Given the description of an element on the screen output the (x, y) to click on. 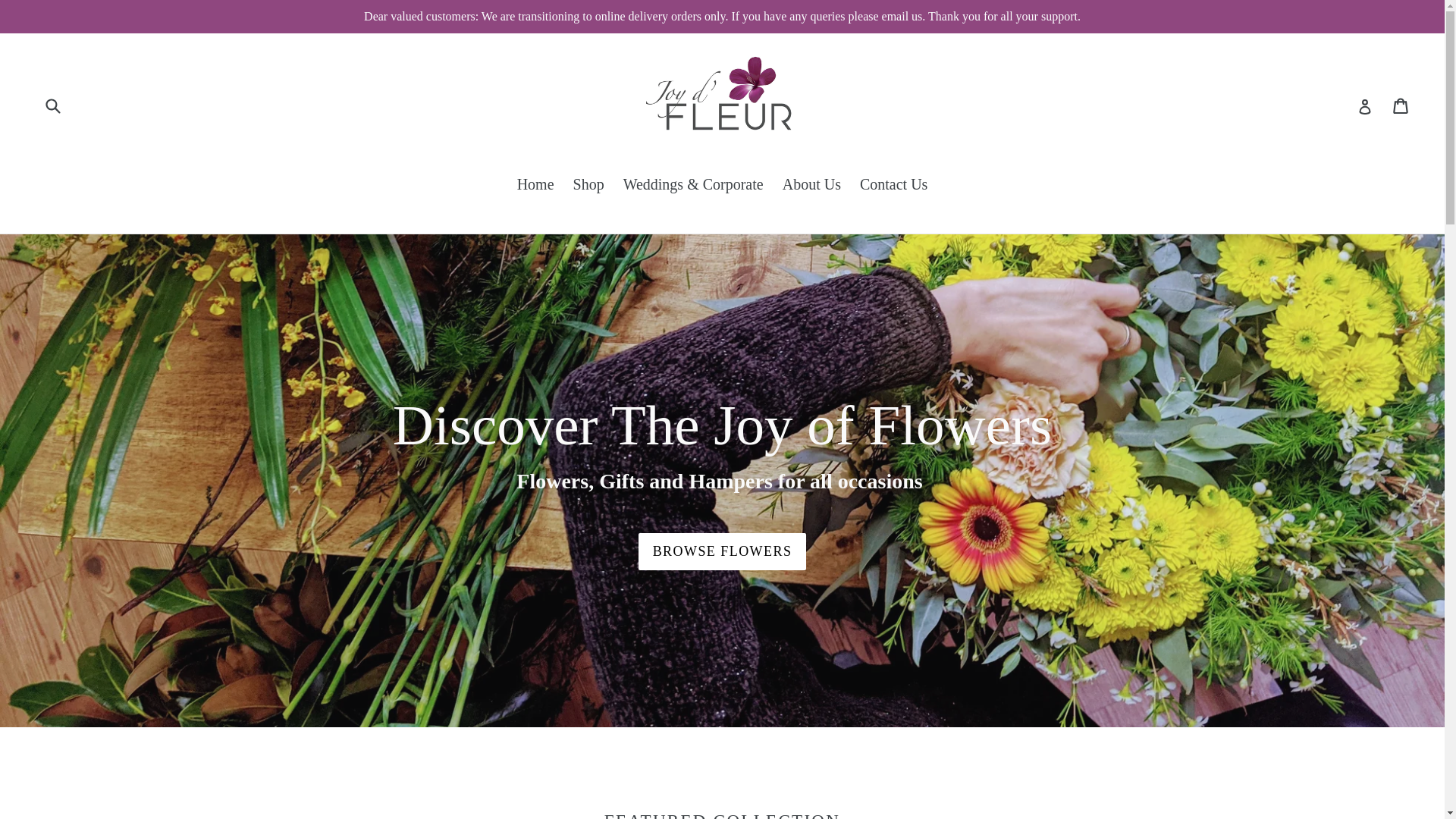
Home Element type: text (535, 184)
Shop Element type: text (588, 184)
Log in Element type: text (1364, 104)
Submit Element type: text (51, 104)
Weddings & Corporate Element type: text (693, 184)
About Us Element type: text (811, 184)
Cart
Cart Element type: text (1401, 104)
Contact Us Element type: text (893, 184)
BROWSE FLOWERS Element type: text (722, 551)
